Given the description of an element on the screen output the (x, y) to click on. 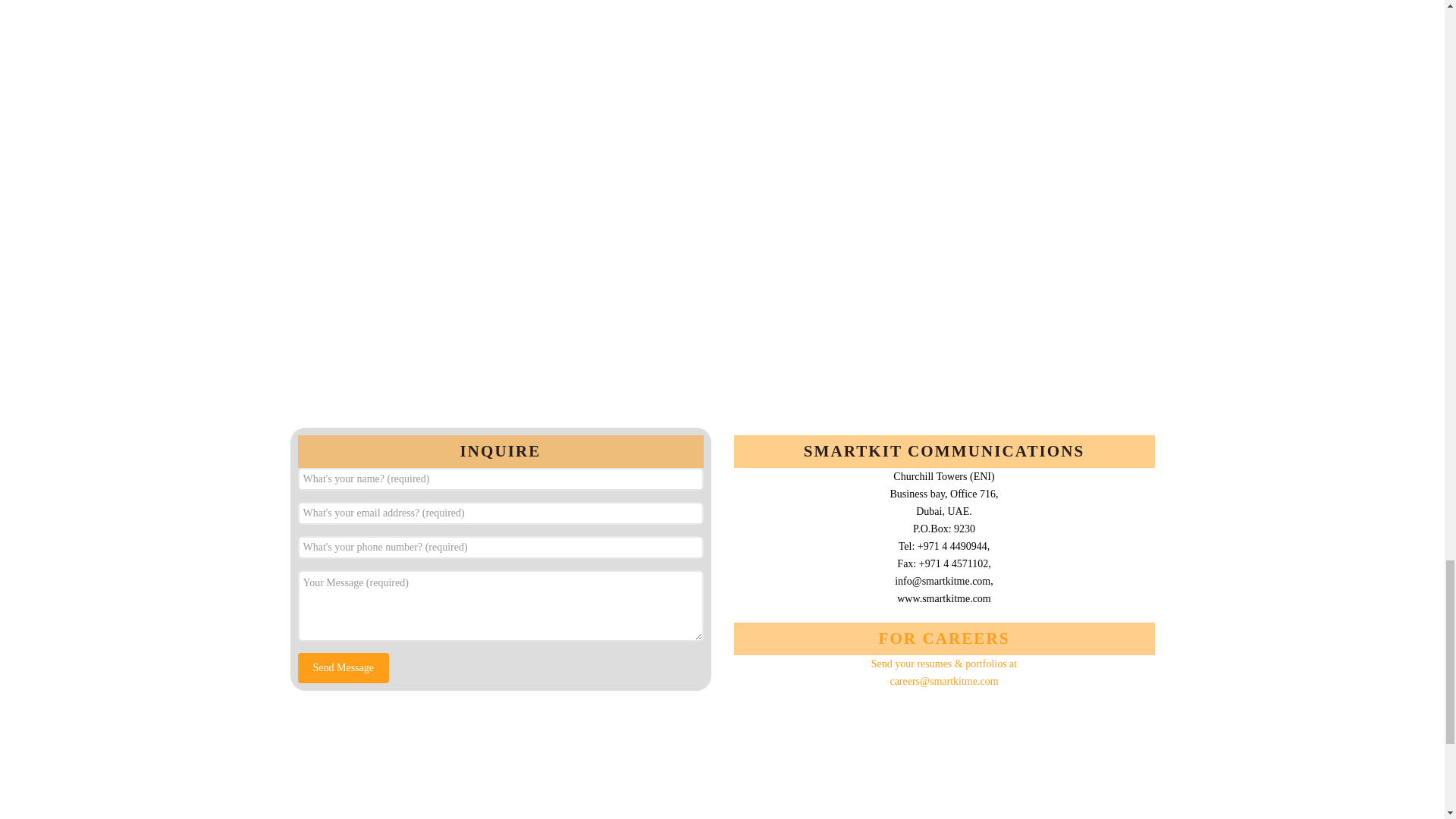
Send Message (342, 667)
